Given the description of an element on the screen output the (x, y) to click on. 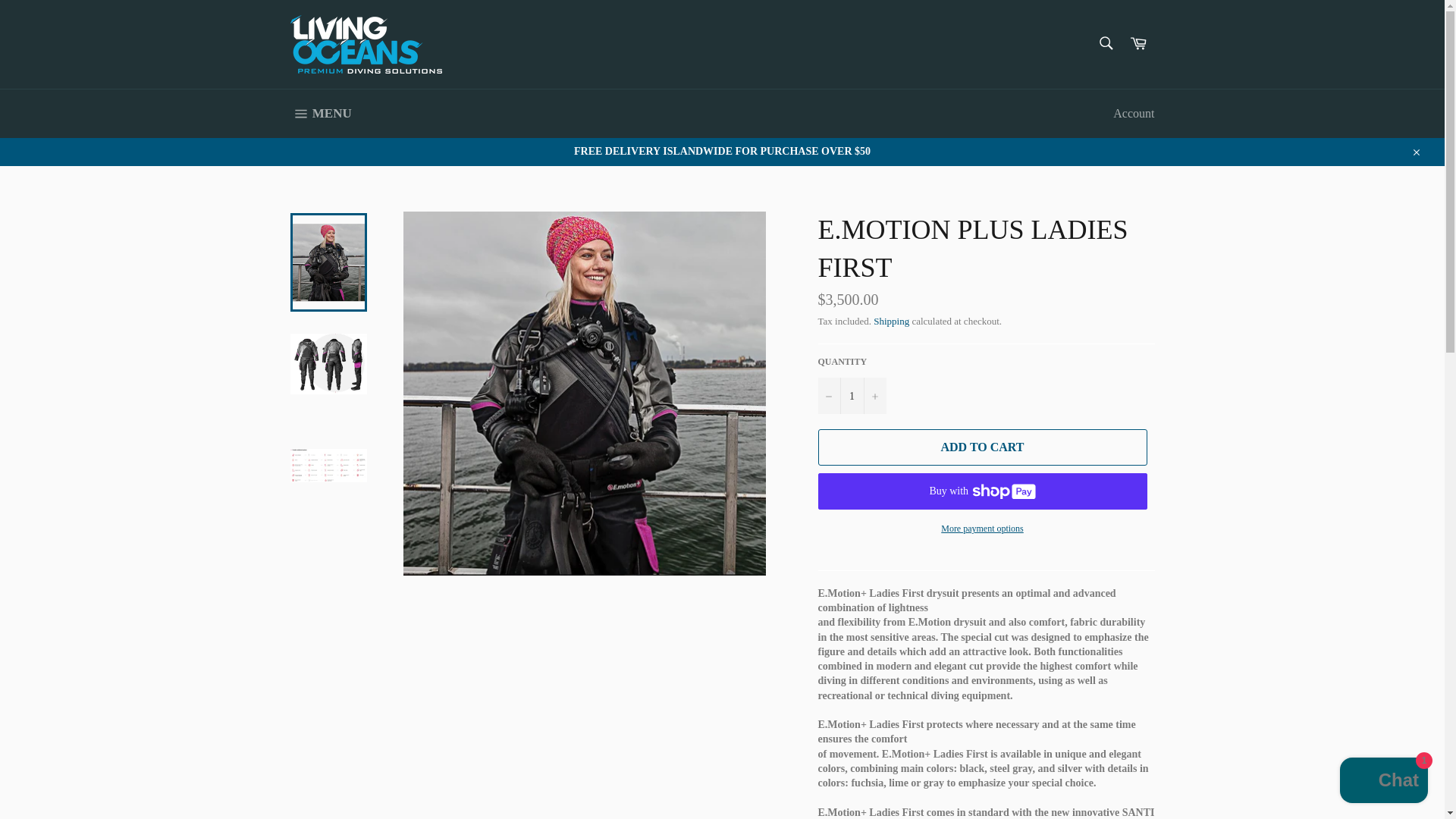
1 (850, 395)
Shopify online store chat (1383, 781)
